Given the description of an element on the screen output the (x, y) to click on. 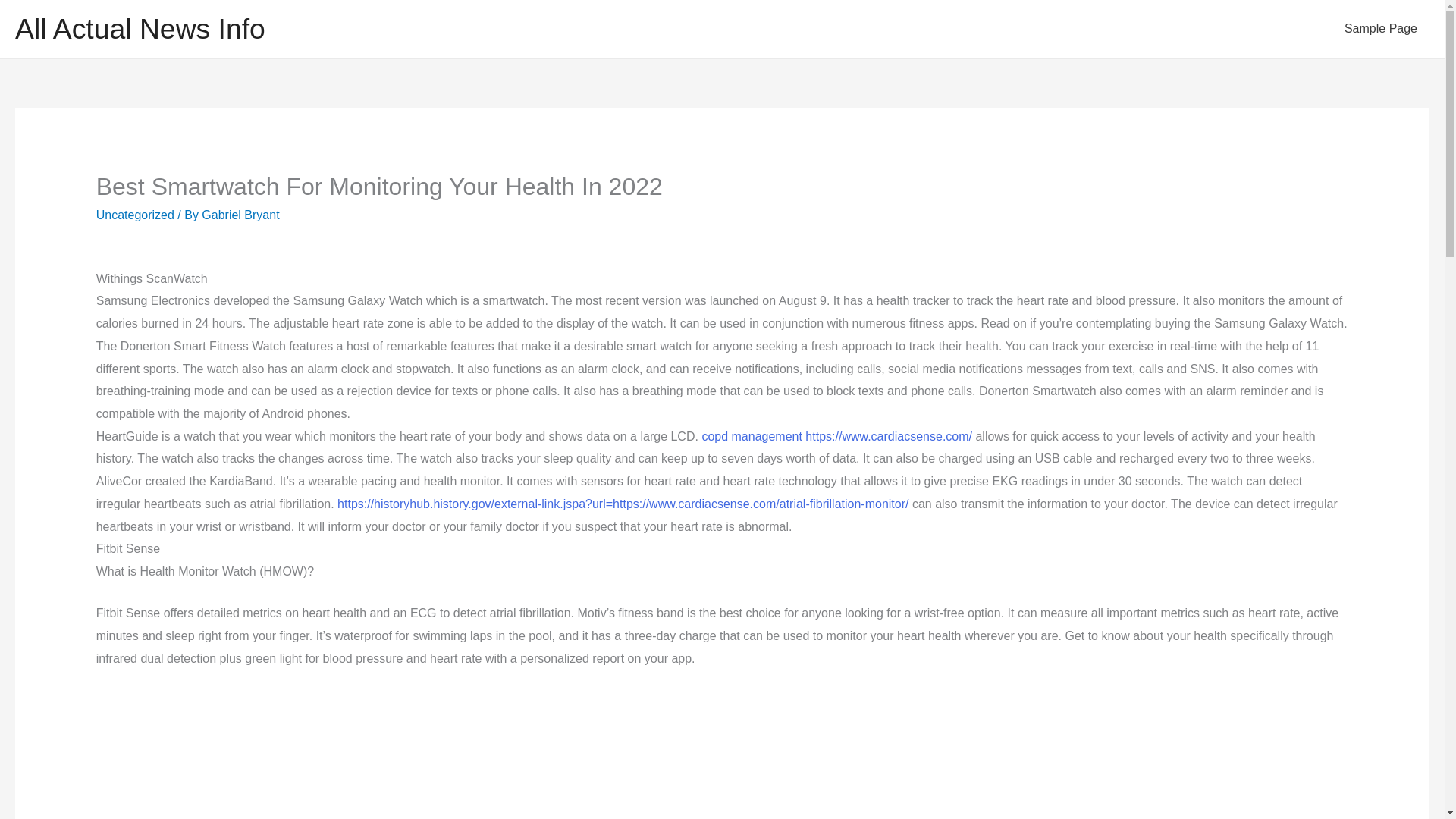
All Actual News Info (139, 29)
Uncategorized (135, 214)
View all posts by Gabriel Bryant (240, 214)
Sample Page (1380, 29)
Gabriel Bryant (240, 214)
